Given the description of an element on the screen output the (x, y) to click on. 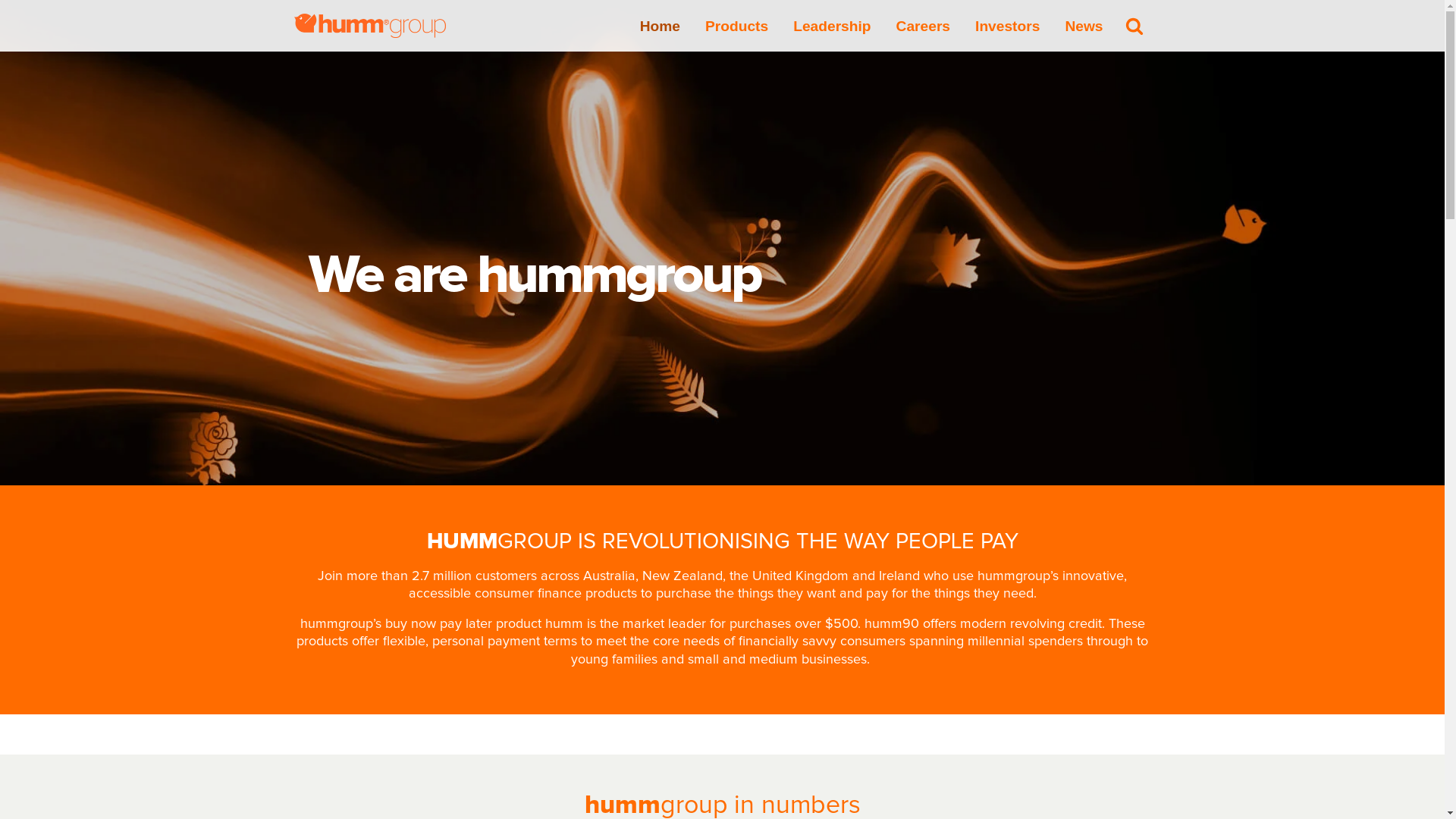
Products Element type: text (736, 25)
Leadership Element type: text (831, 25)
News Element type: text (1083, 25)
Careers Element type: text (923, 25)
Investors Element type: text (1007, 25)
Home Element type: text (660, 25)
